Given the description of an element on the screen output the (x, y) to click on. 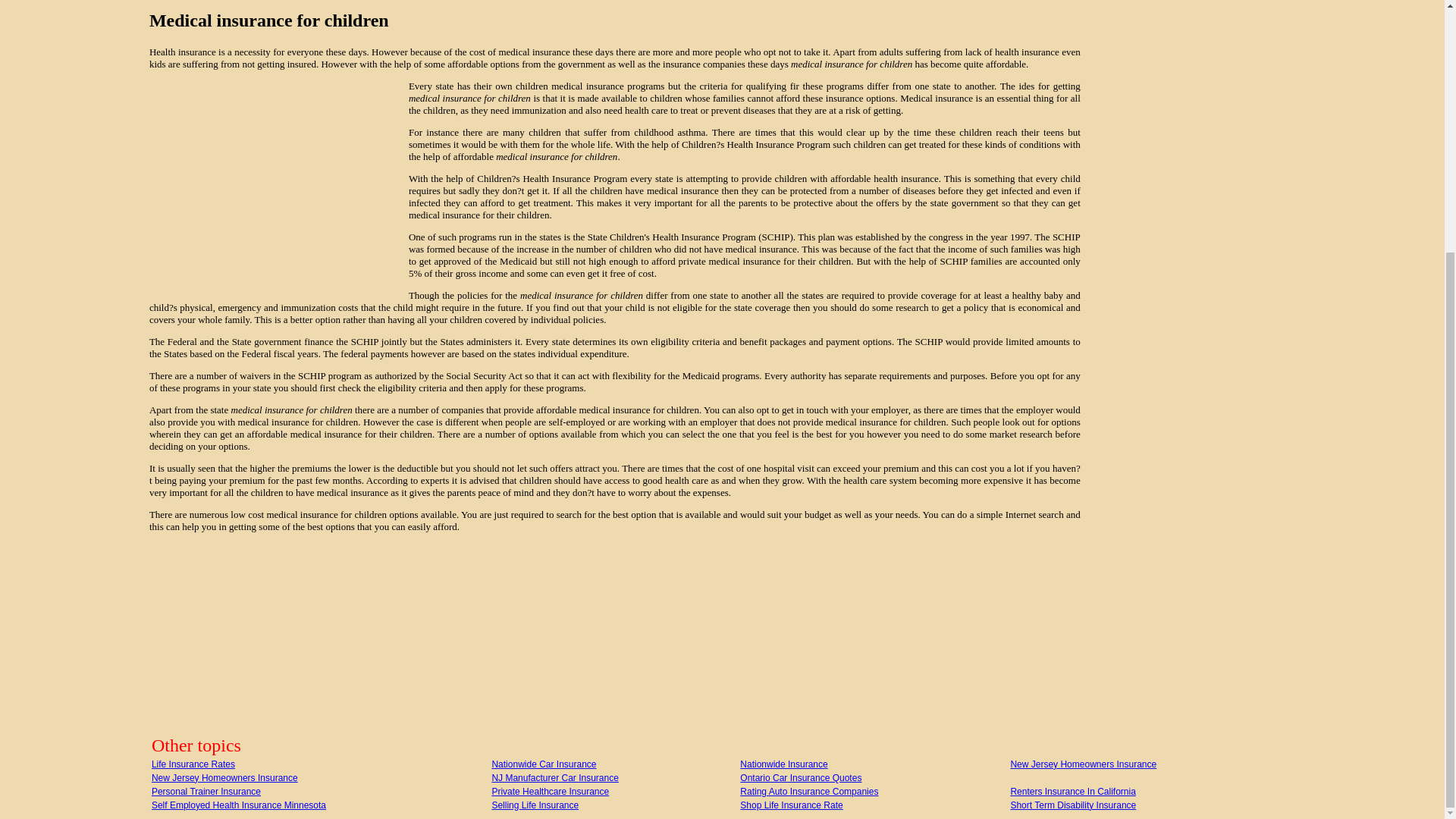
medical insurance for children (614, 20)
Medical insurance for children (851, 63)
Selling Life Insurance (535, 805)
Nationwide Car Insurance (543, 764)
Medical insurance for children (470, 98)
Shop Life Insurance Rate (791, 805)
NJ Manufacturer Car Insurance (554, 777)
Medical insurance for children (581, 295)
Short Term Disability Insurance (1072, 805)
Private Healthcare Insurance (550, 791)
Life Insurance Rates (192, 764)
New Jersey Homeowners Insurance (224, 777)
Personal Trainer Insurance (205, 791)
Advertisement (278, 188)
New Jersey Homeowners Insurance (1083, 764)
